Given the description of an element on the screen output the (x, y) to click on. 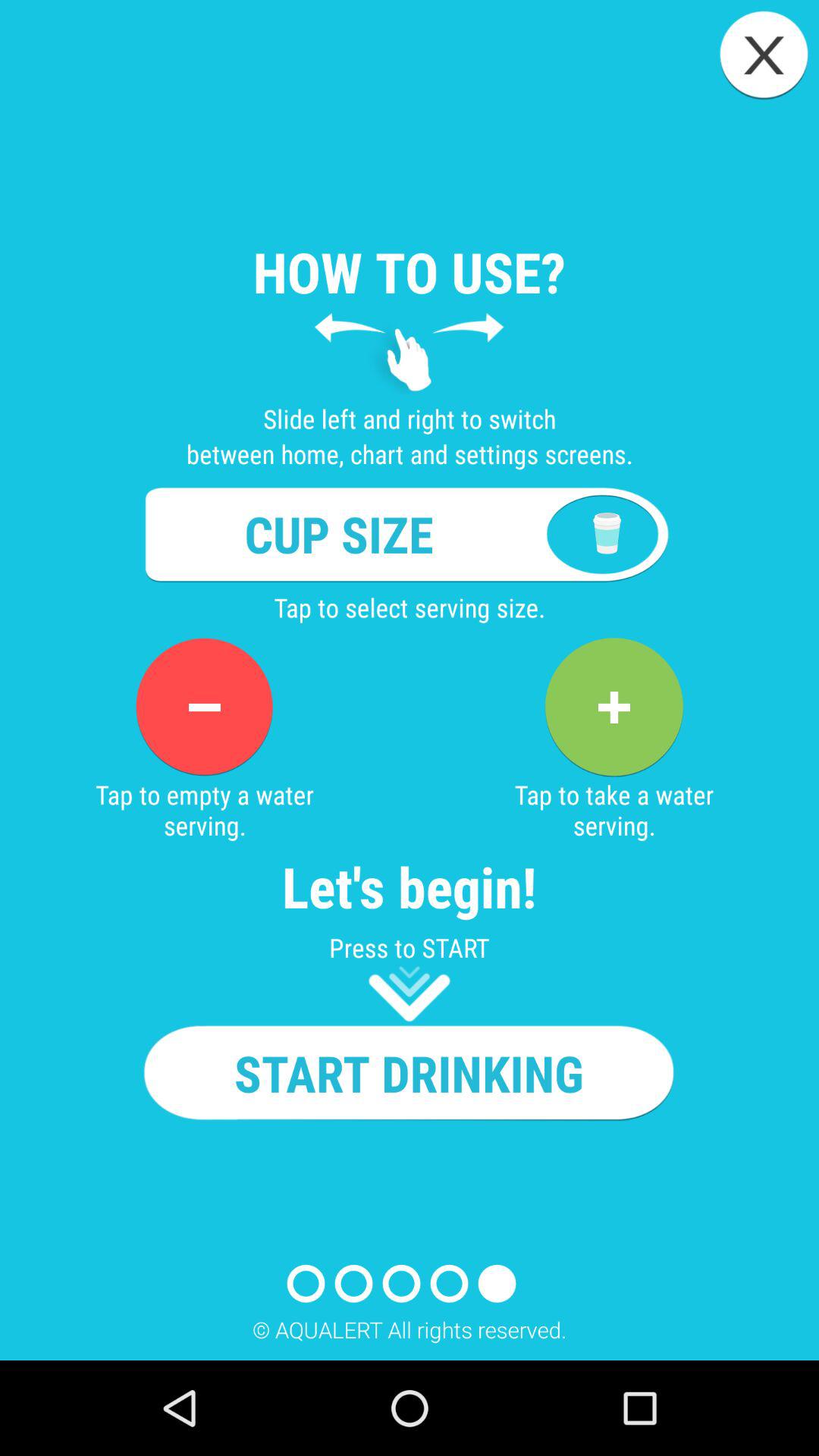
tap item at the top right corner (763, 55)
